Given the description of an element on the screen output the (x, y) to click on. 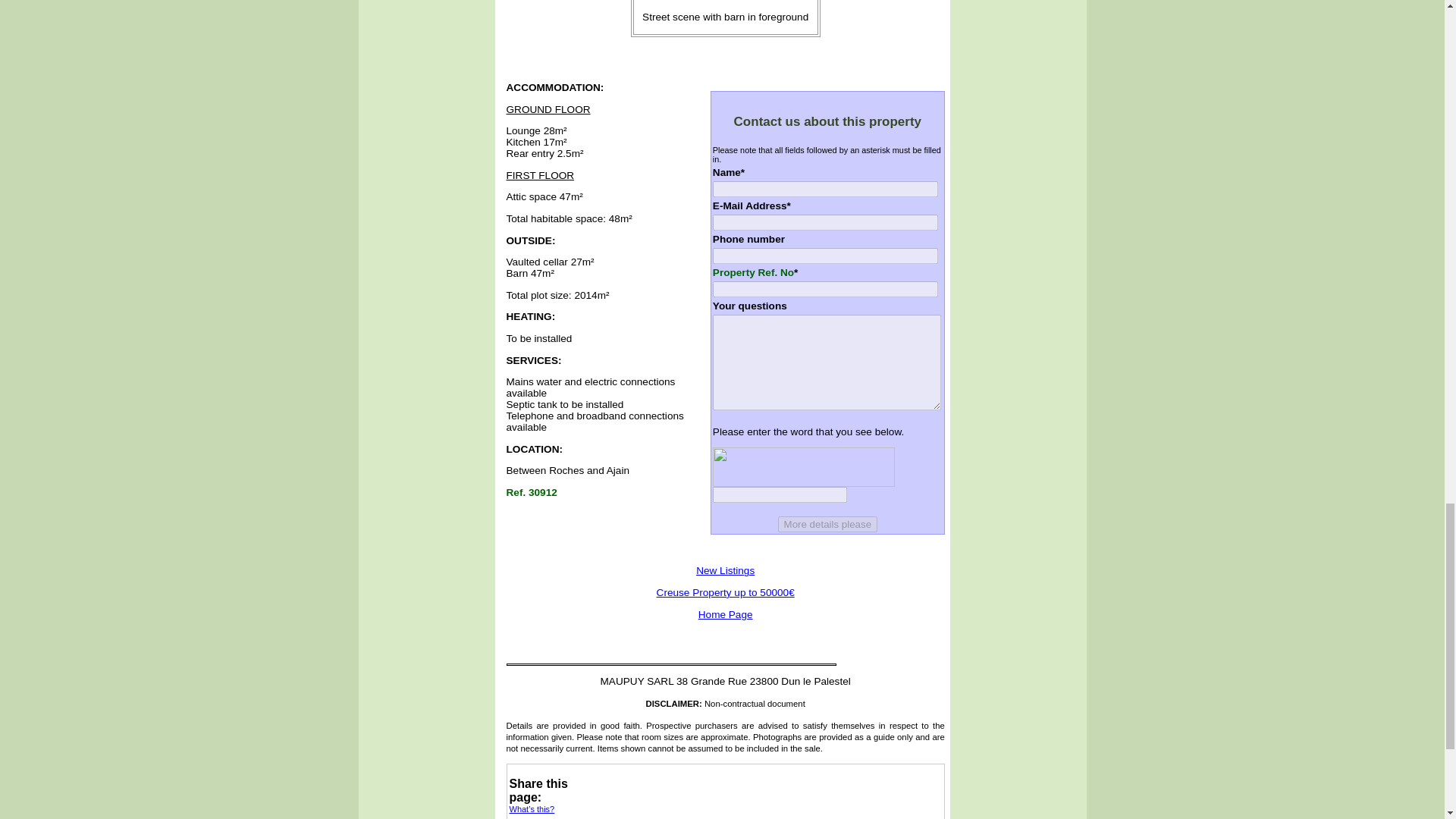
More details please (827, 524)
New Listings (724, 570)
More details please (827, 524)
Home Page (725, 614)
